Given the description of an element on the screen output the (x, y) to click on. 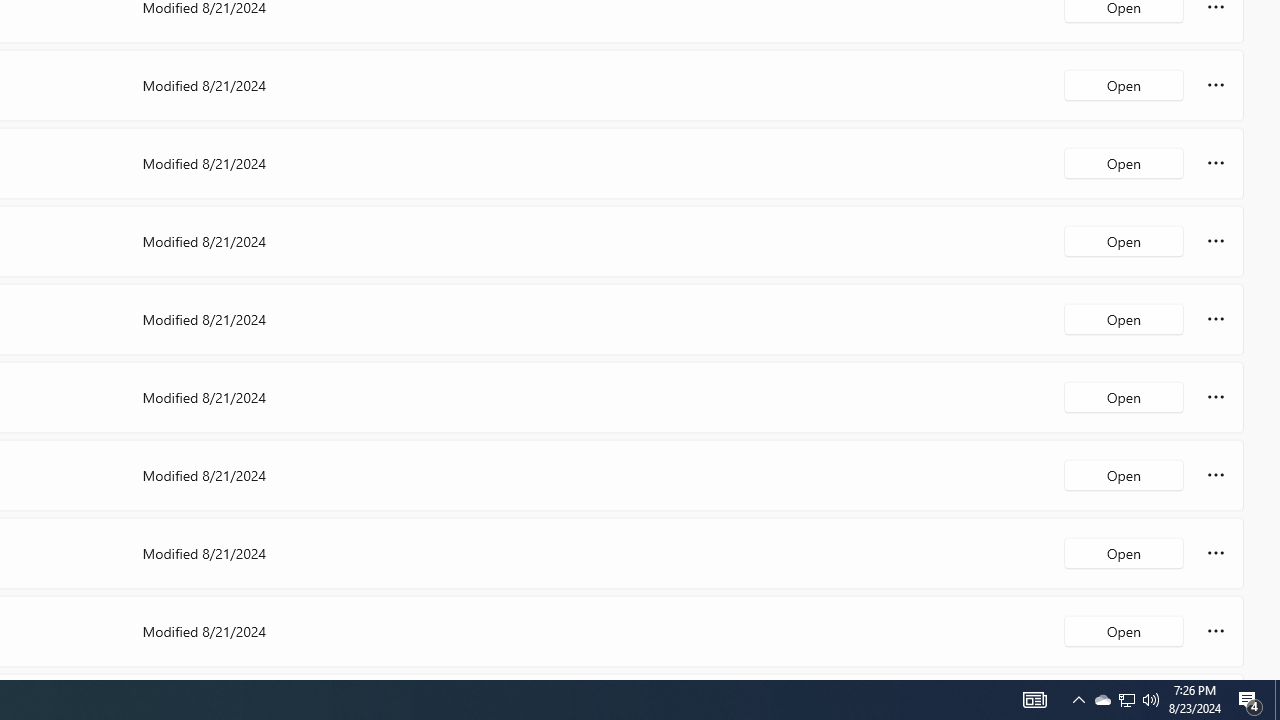
More options (1215, 630)
Open (1123, 630)
